Given the description of an element on the screen output the (x, y) to click on. 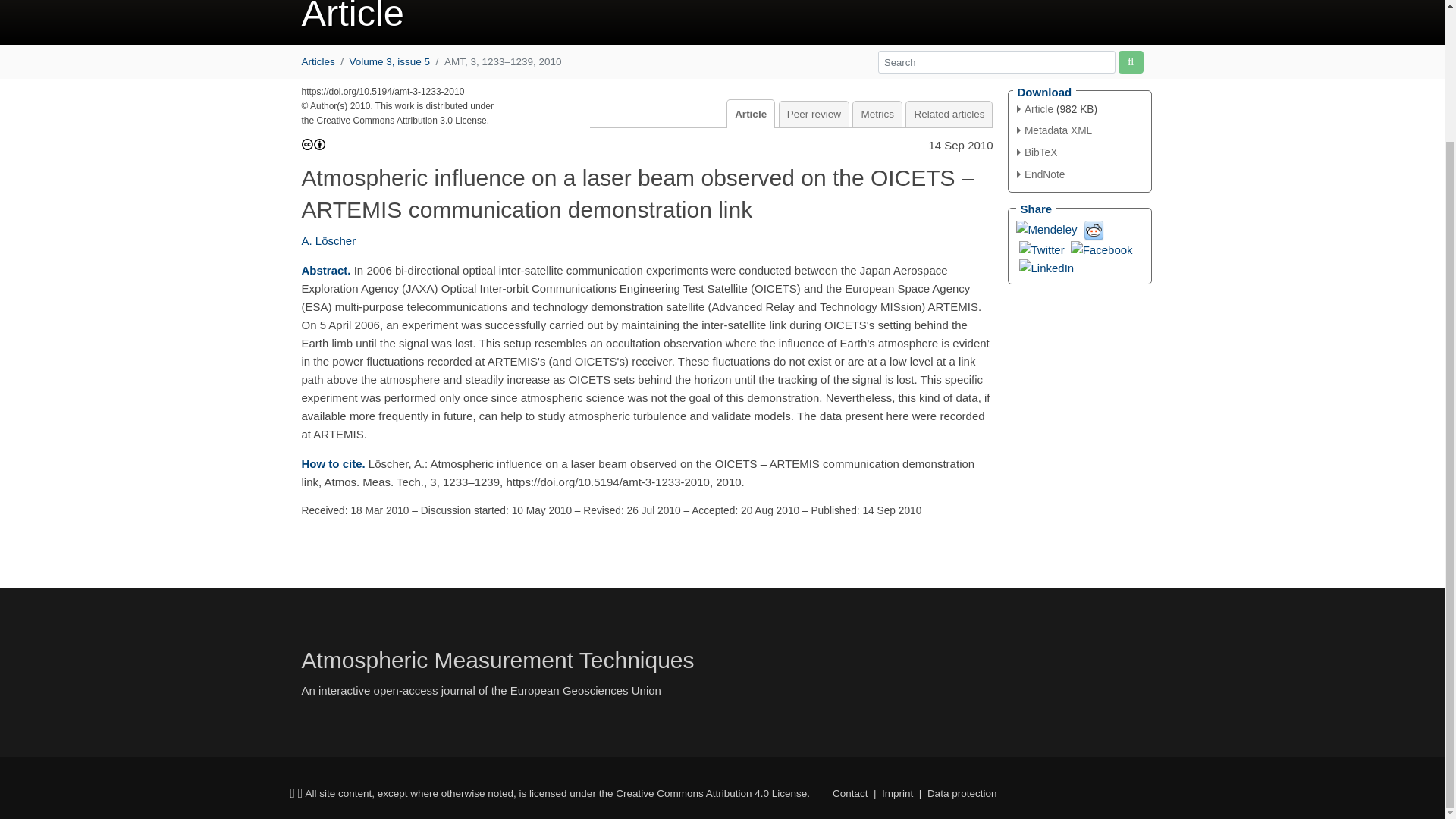
Facebook (1101, 248)
Twitter (1041, 248)
Mendeley (1046, 228)
XML Version (1054, 130)
Reddit (1093, 228)
Start site search (1130, 61)
